Given the description of an element on the screen output the (x, y) to click on. 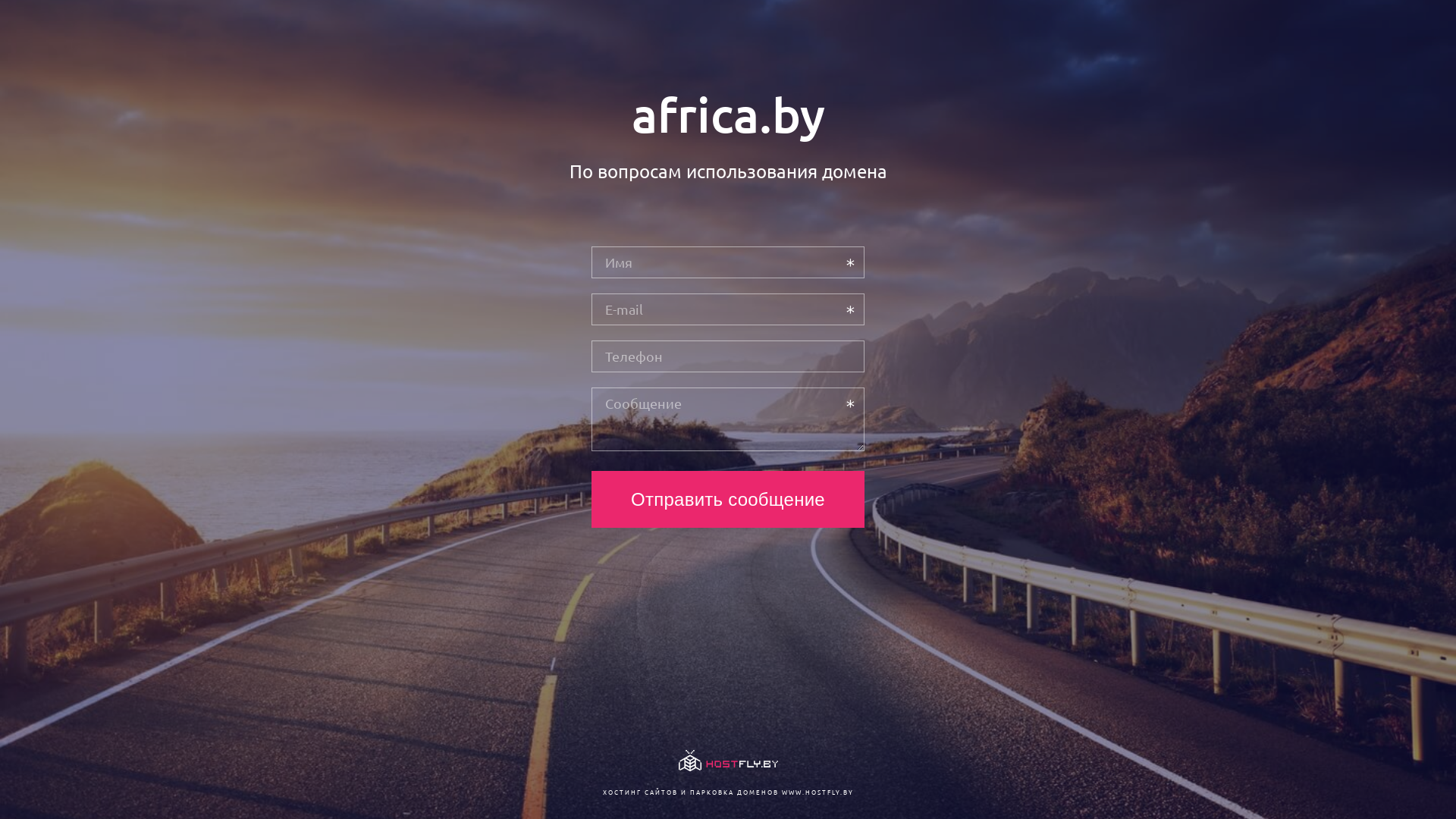
WWW.HOSTFLY.BY Element type: text (817, 791)
